Given the description of an element on the screen output the (x, y) to click on. 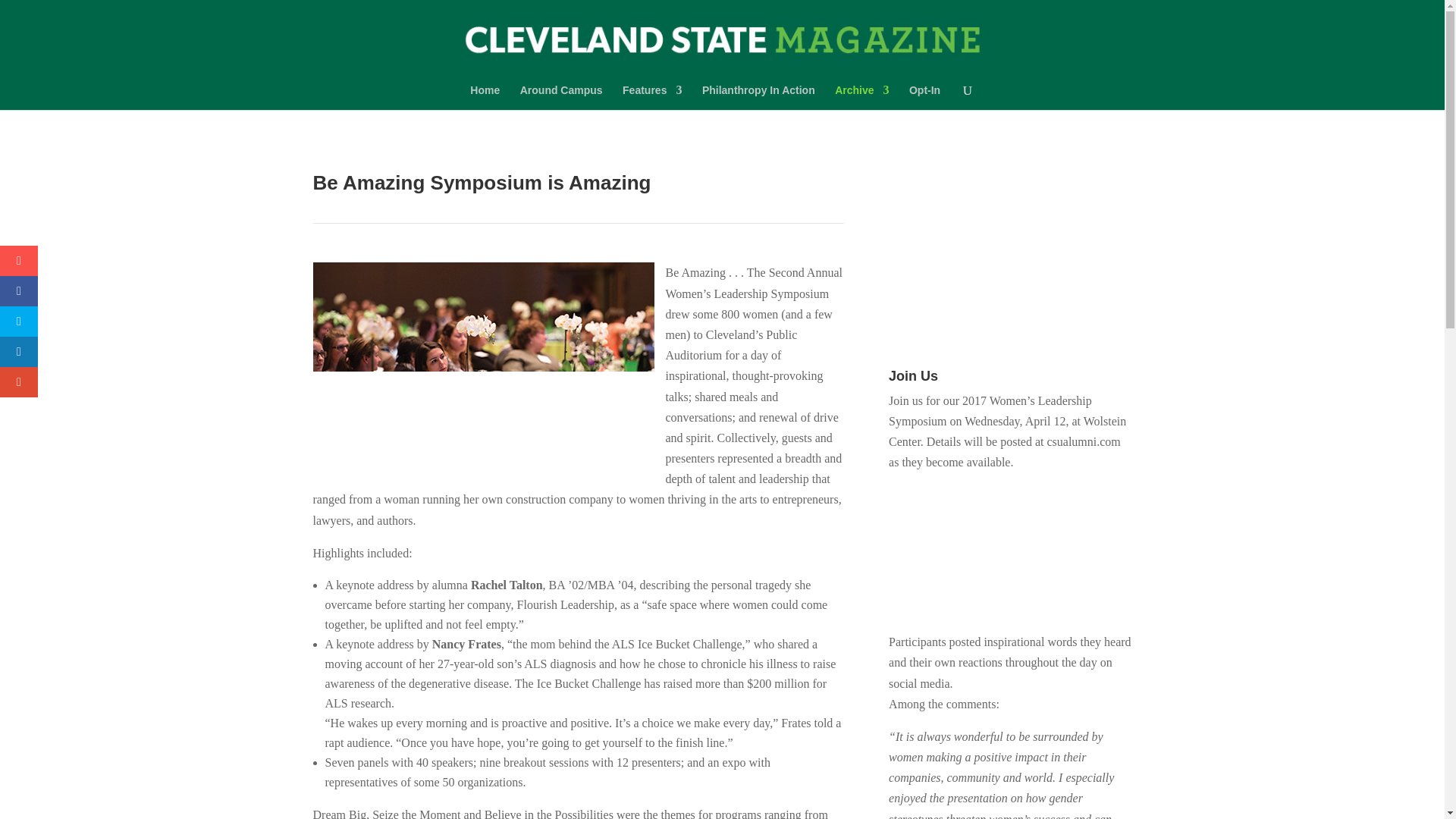
Around Campus (560, 97)
Archive (861, 97)
Home (484, 97)
Features (652, 97)
Philanthropy In Action (758, 97)
